Given the description of an element on the screen output the (x, y) to click on. 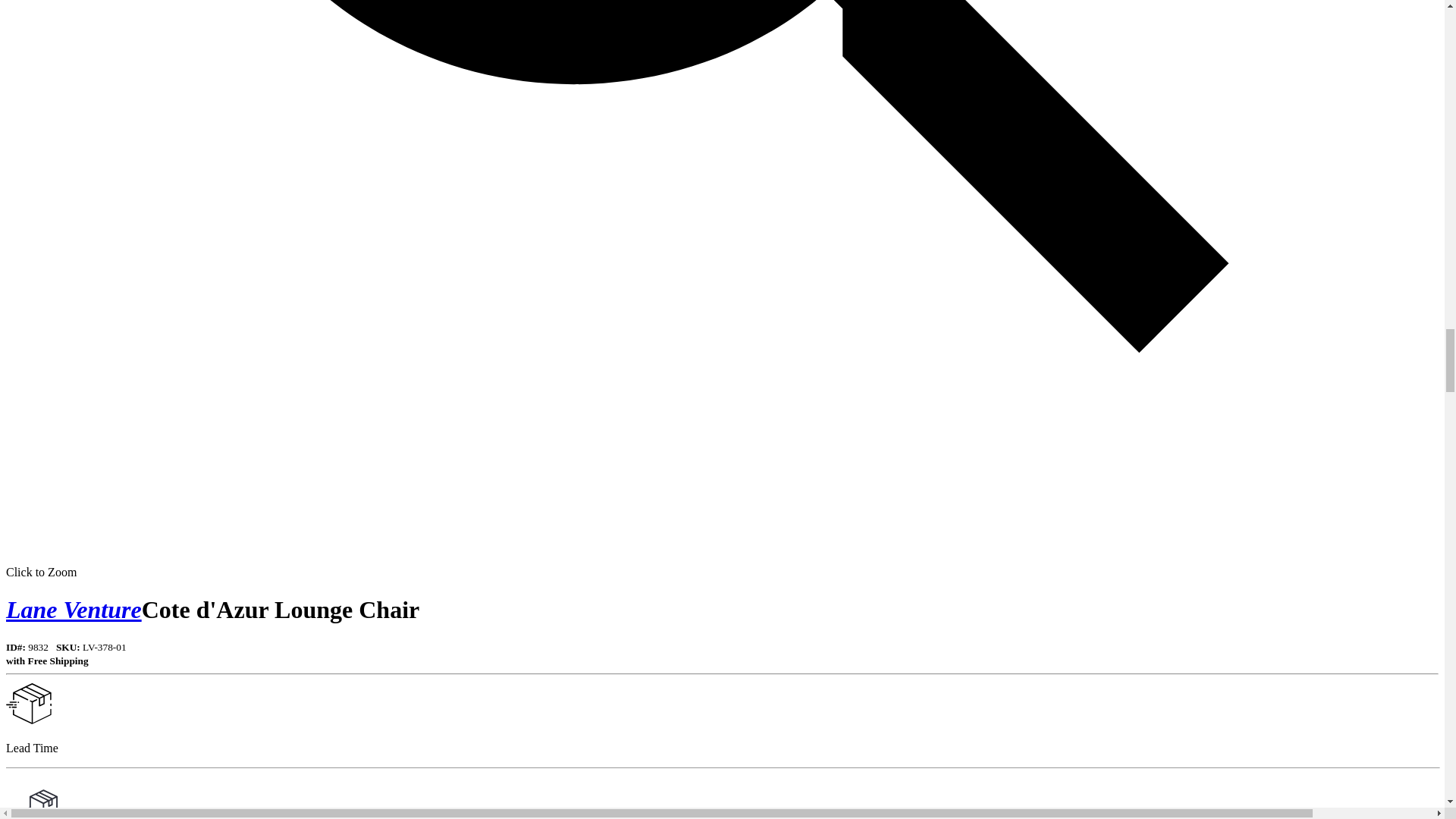
Lane Venture (73, 609)
More products on Lane Venture's brand page (73, 609)
